Given the description of an element on the screen output the (x, y) to click on. 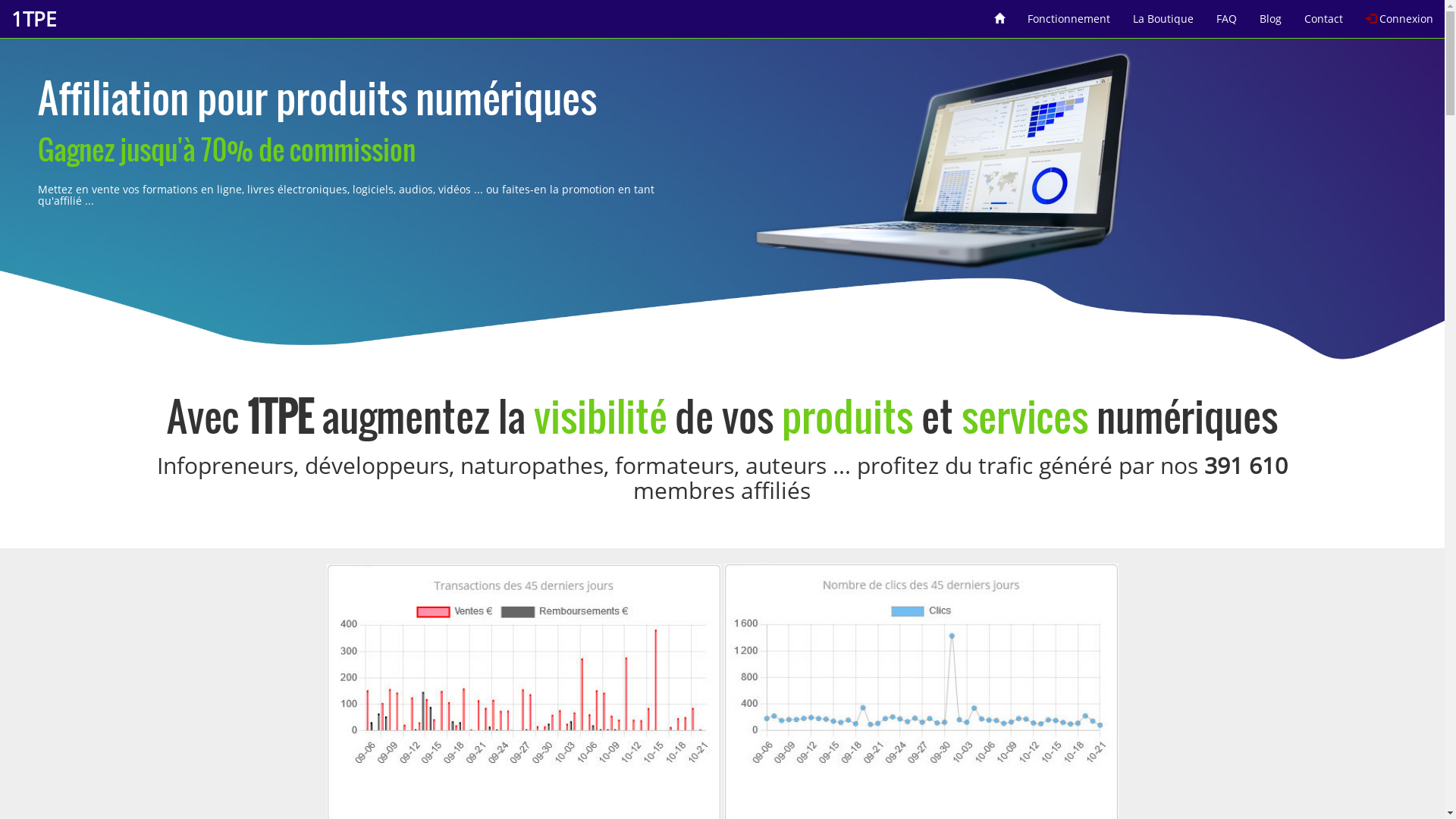
FAQ Element type: text (1226, 13)
Connexion Element type: text (1399, 13)
La Boutique Element type: text (1162, 13)
1TPE Element type: text (33, 18)
Blog Element type: text (1270, 13)
Fonctionnement Element type: text (1068, 13)
Contact Element type: text (1323, 13)
